Given the description of an element on the screen output the (x, y) to click on. 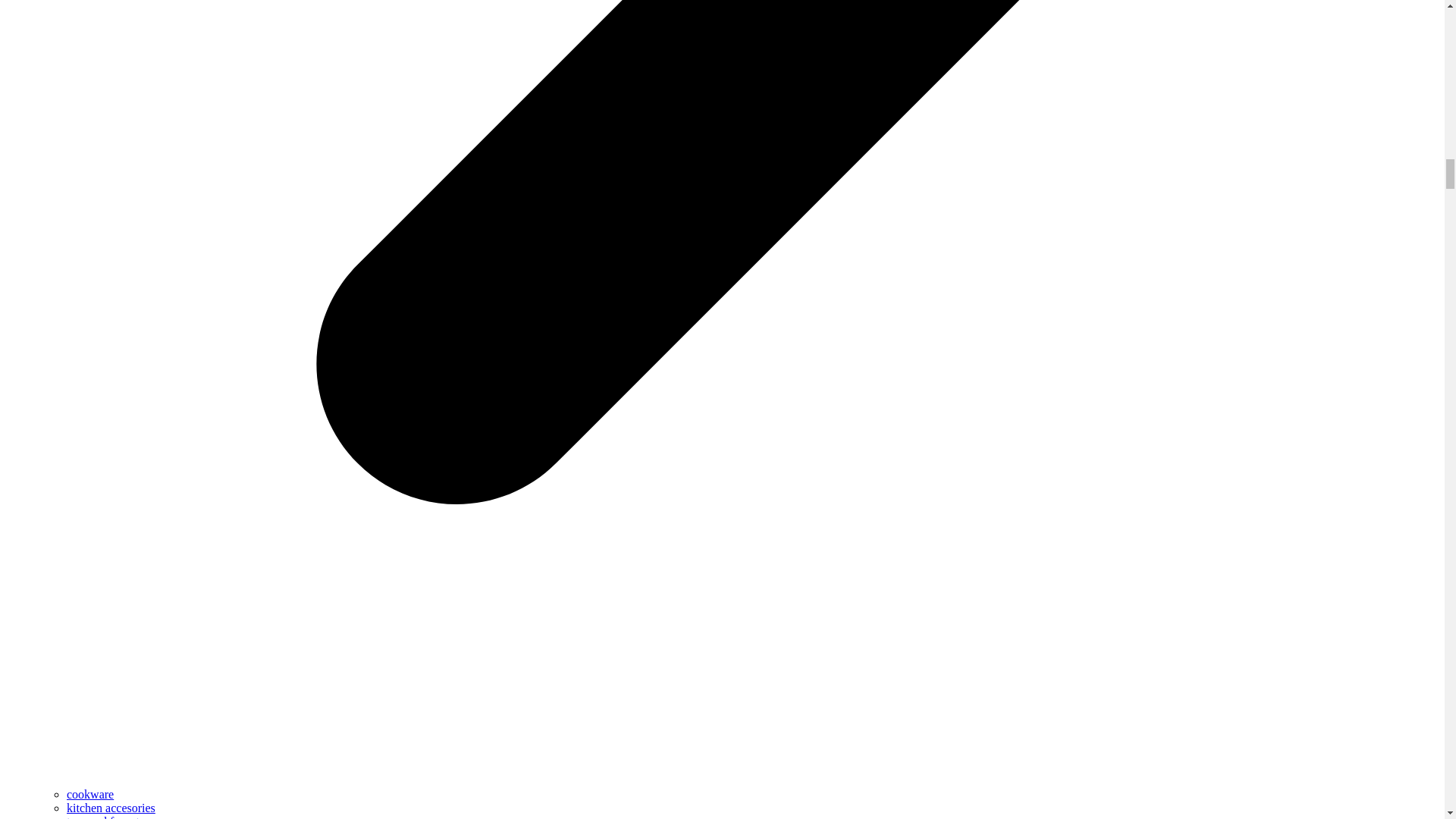
kitchen accesories (110, 807)
taps and faucets (105, 816)
cookware (89, 793)
